Given the description of an element on the screen output the (x, y) to click on. 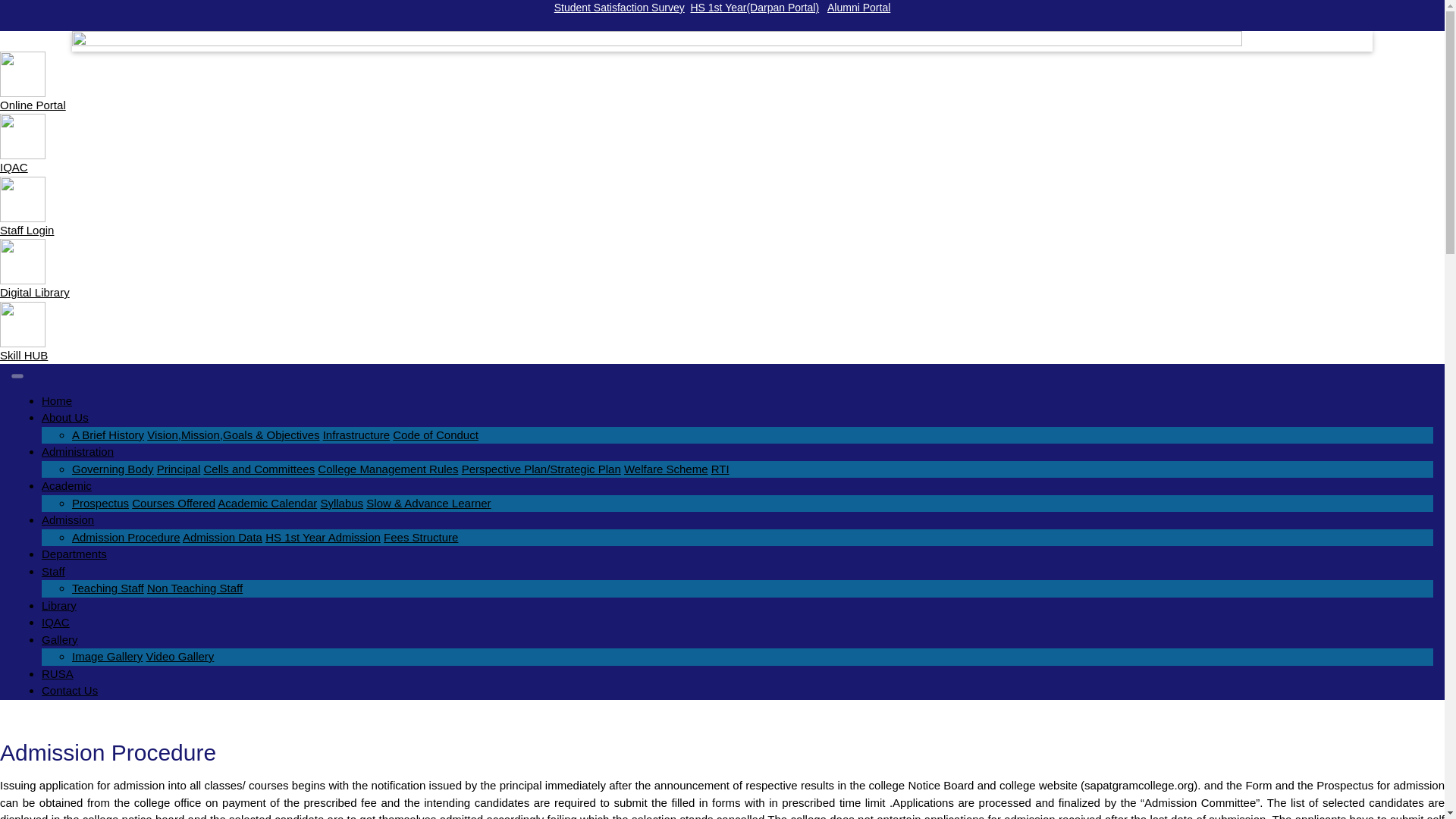
Library (59, 604)
Infrastructure (372, 434)
Teaching Staff (107, 587)
College Management Rules (387, 468)
Welfare Scheme (665, 468)
HS 1st Year Admission (322, 536)
About Us (65, 417)
Admission Data (222, 536)
Courses Offered (173, 502)
Governing Body (114, 468)
